Given the description of an element on the screen output the (x, y) to click on. 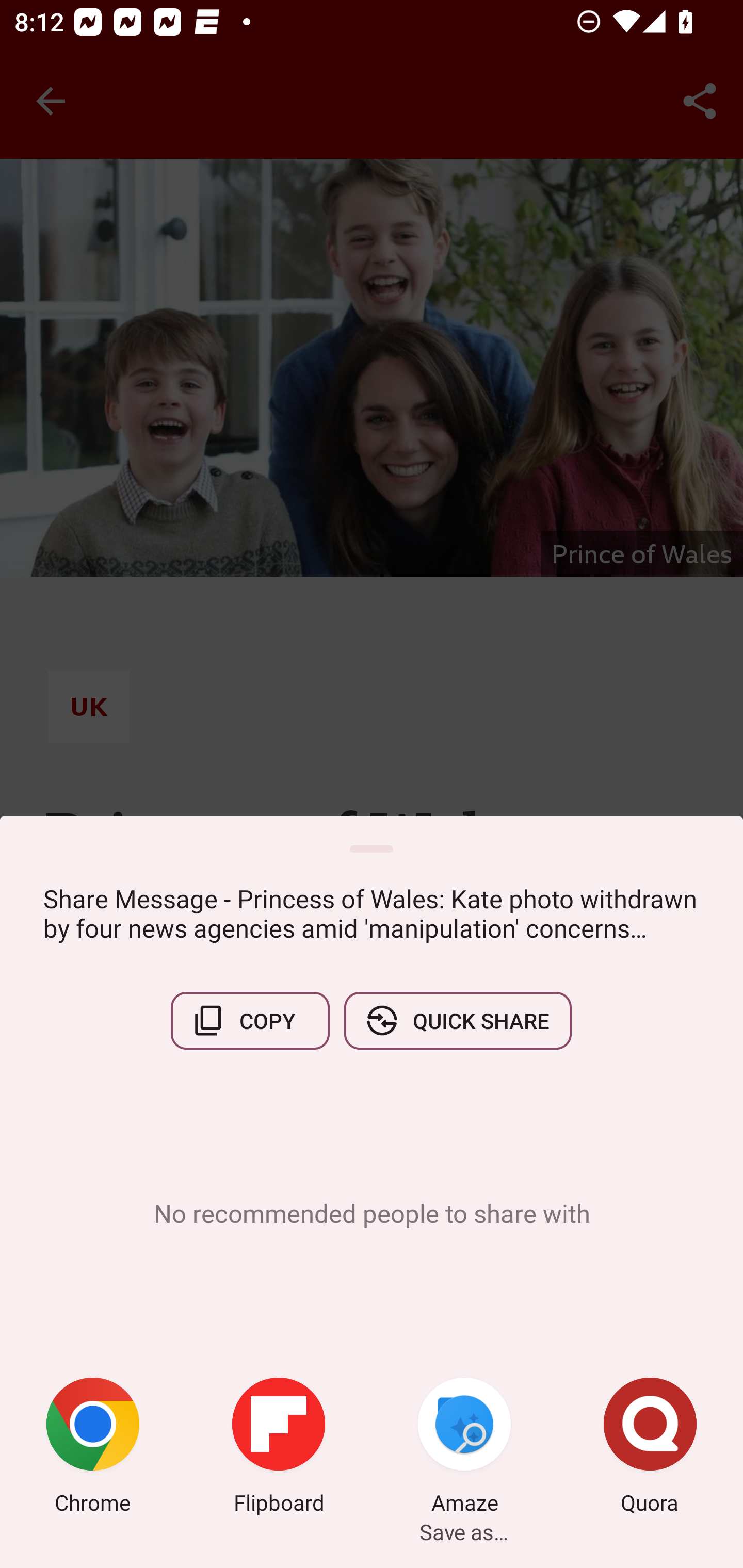
COPY (249, 1020)
QUICK SHARE (457, 1020)
Chrome (92, 1448)
Flipboard (278, 1448)
Amaze Save as… (464, 1448)
Quora (650, 1448)
